Given the description of an element on the screen output the (x, y) to click on. 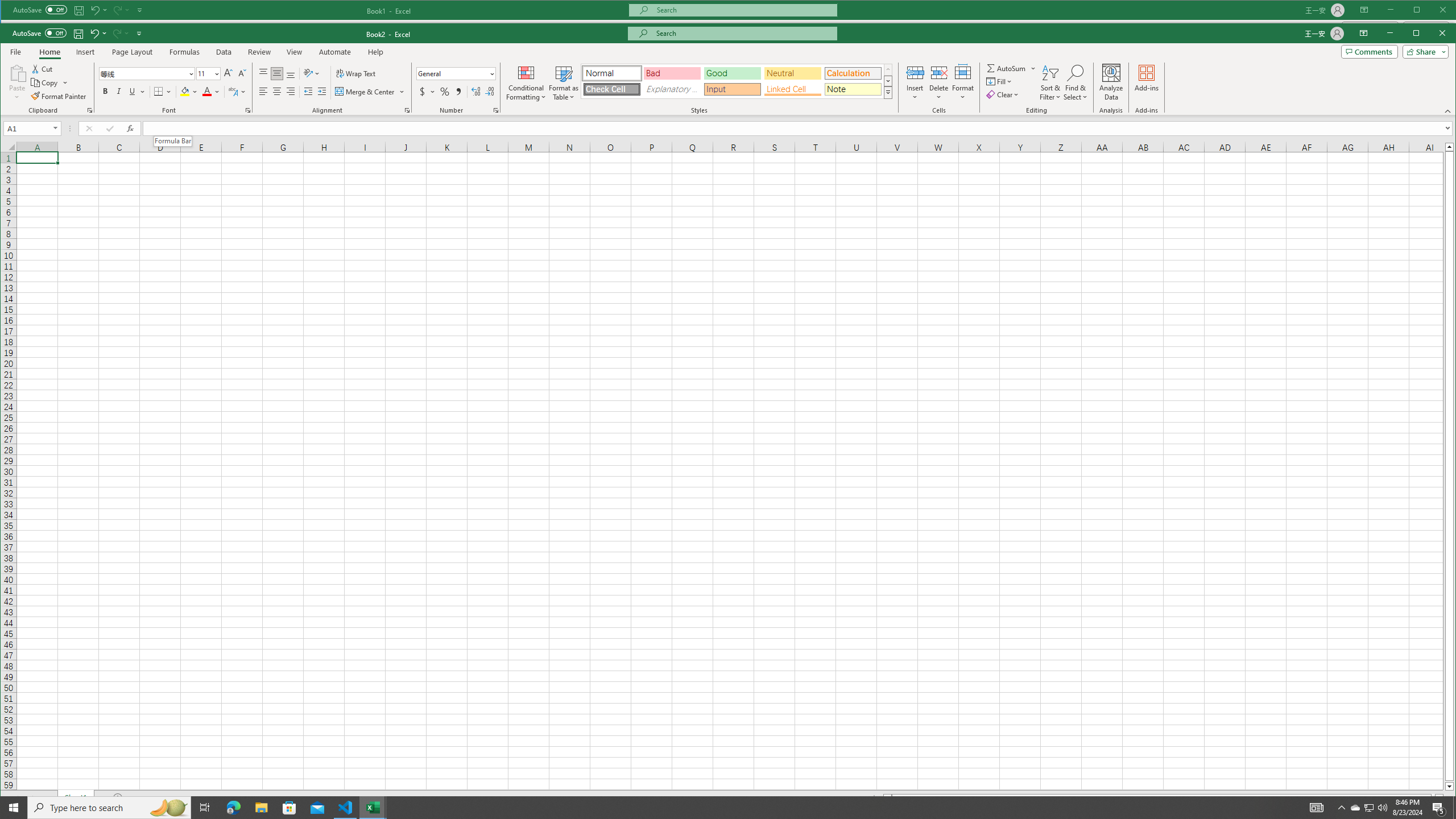
View (294, 51)
Bottom Align (290, 73)
Neutral (792, 73)
Formulas (184, 51)
Copy (49, 82)
More Options (1033, 68)
Comma Style (458, 91)
Automate (334, 51)
Align Left (263, 91)
Percent Style (444, 91)
Accounting Number Format (426, 91)
Merge & Center (370, 91)
